Given the description of an element on the screen output the (x, y) to click on. 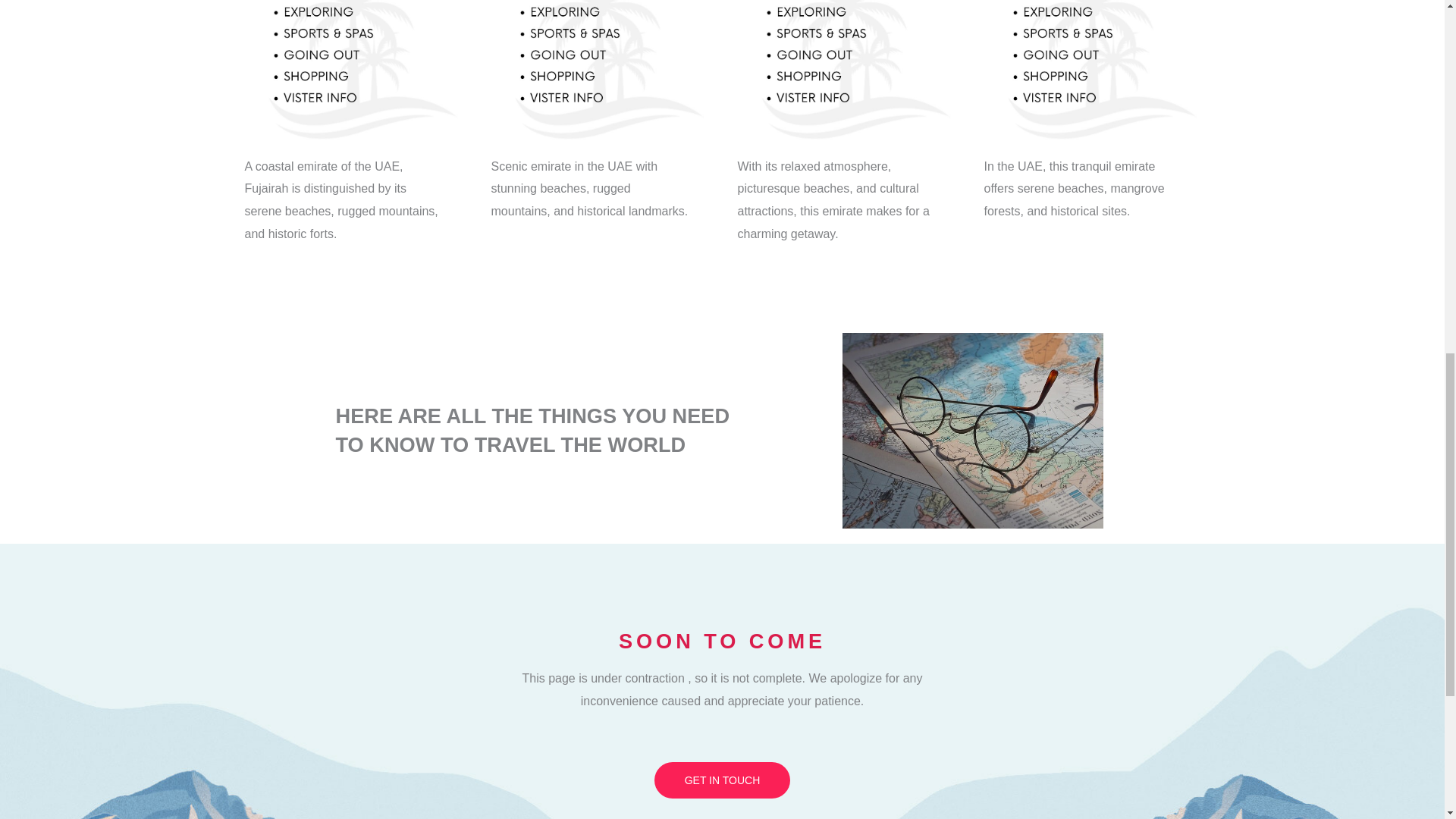
GET IN TOUCH (721, 780)
